Given the description of an element on the screen output the (x, y) to click on. 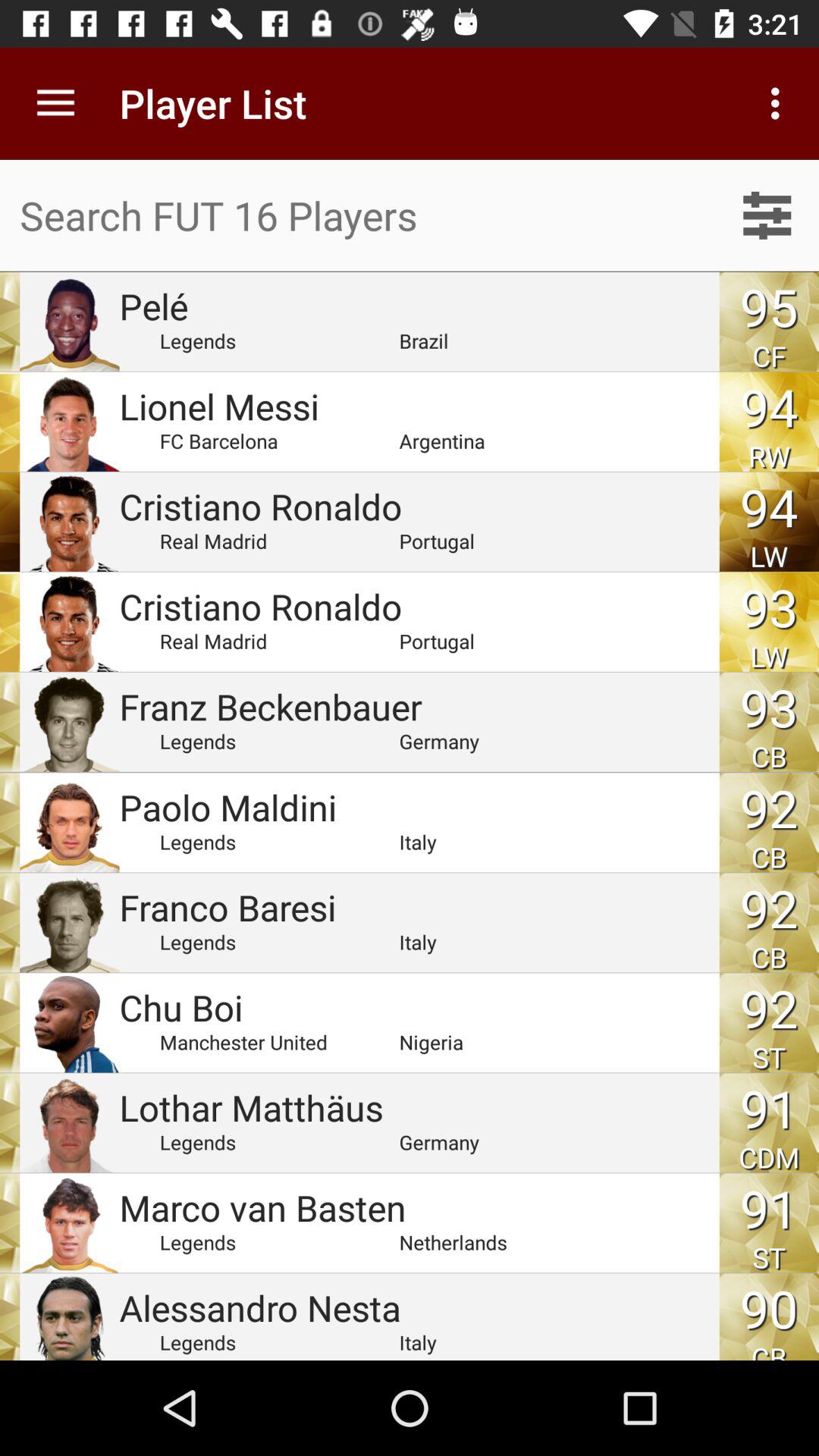
menu (767, 215)
